Given the description of an element on the screen output the (x, y) to click on. 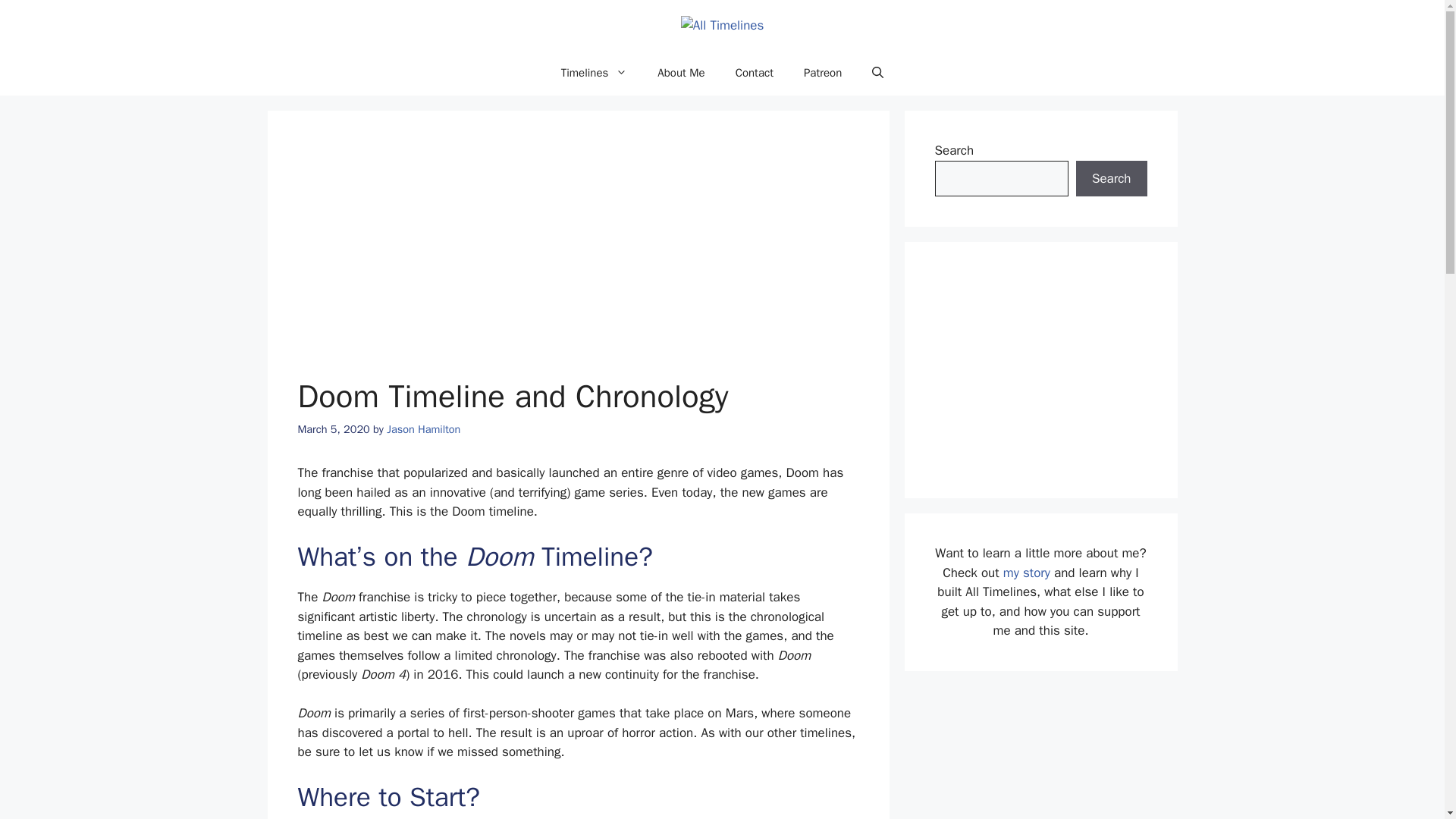
Jason Hamilton (423, 428)
Search (1111, 178)
Contact (754, 72)
About Me (680, 72)
Patreon (823, 72)
my story (1026, 572)
View all posts by Jason Hamilton (423, 428)
Timelines (594, 72)
